Given the description of an element on the screen output the (x, y) to click on. 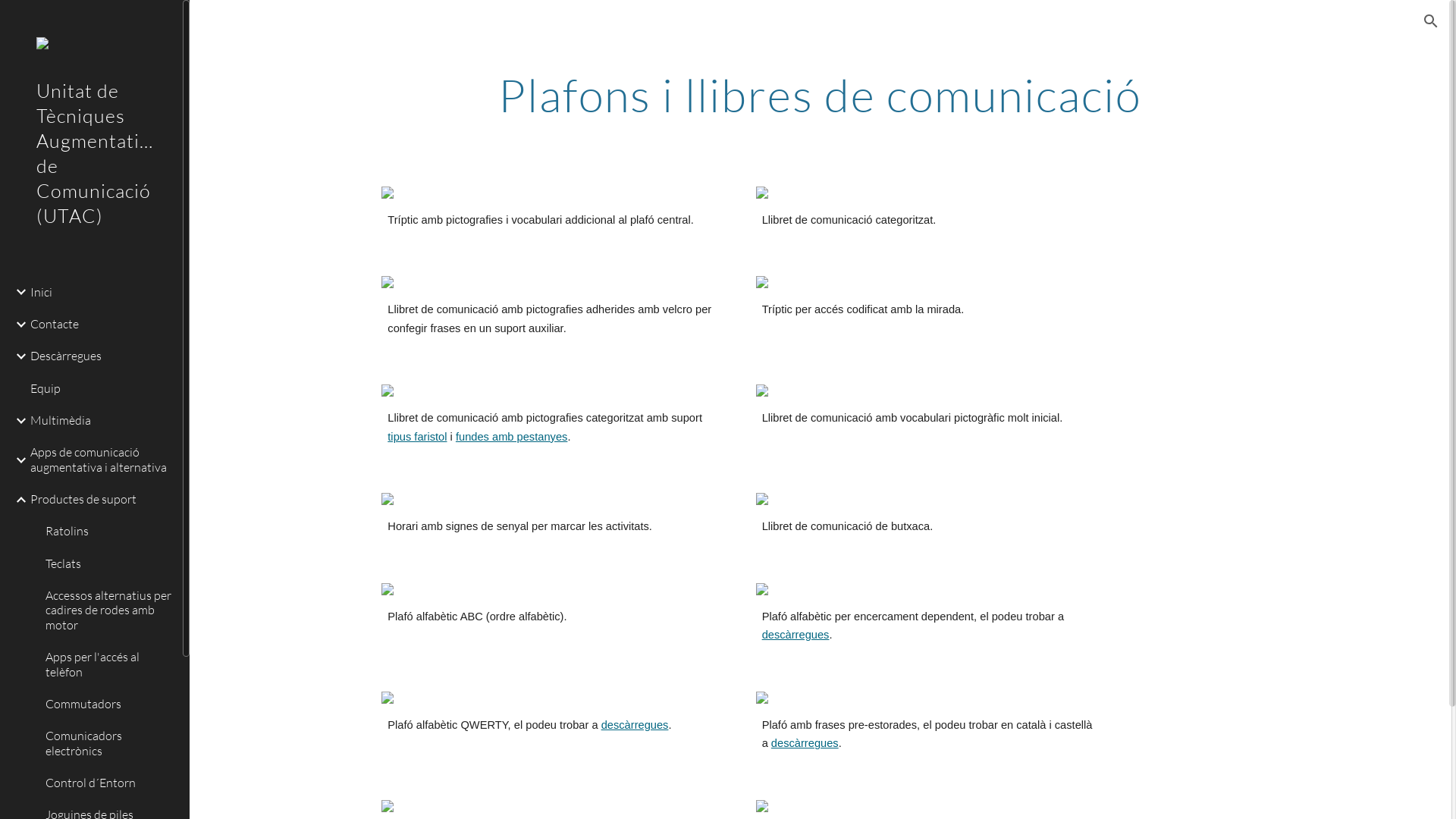
Productes de suport Element type: text (100, 499)
Commutadors Element type: text (107, 703)
Expand/Collapse Element type: hover (16, 460)
Inici Element type: text (100, 291)
tipus faristol Element type: text (416, 436)
Teclats Element type: text (107, 563)
Expand/Collapse Element type: hover (16, 324)
Contacte Element type: text (100, 323)
Accessos alternatius per cadires de rodes amb motor Element type: text (107, 610)
Expand/Collapse Element type: hover (16, 291)
Expand/Collapse Element type: hover (16, 499)
Ratolins Element type: text (107, 531)
Equip Element type: text (100, 388)
Expand/Collapse Element type: hover (16, 420)
Expand/Collapse Element type: hover (16, 356)
fundes amb pestanyes Element type: text (511, 436)
